Given the description of an element on the screen output the (x, y) to click on. 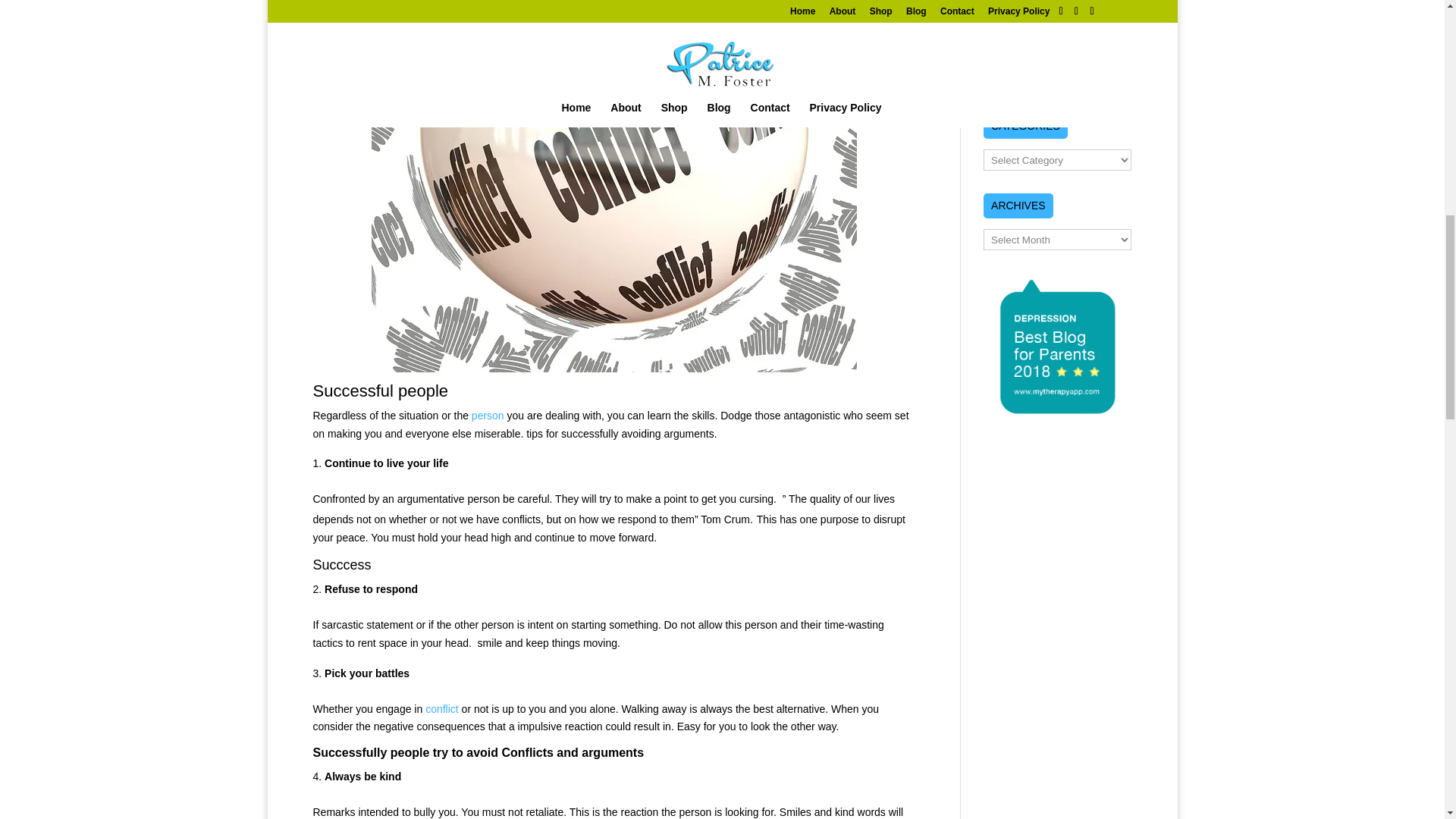
Person (487, 415)
person (487, 415)
conflict (441, 708)
Organizational conflict (441, 708)
